Given the description of an element on the screen output the (x, y) to click on. 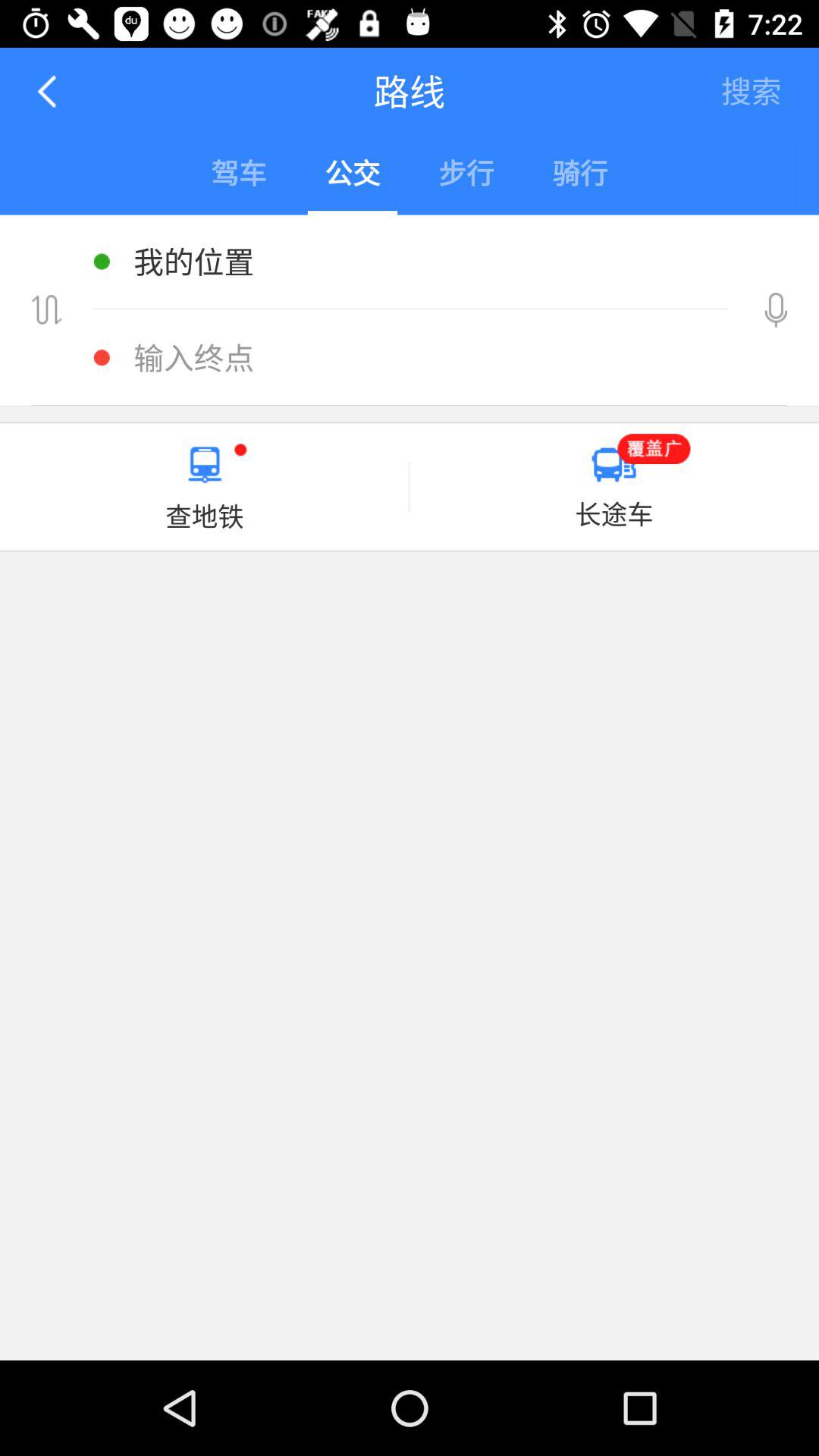
go to record button (776, 310)
second option in the menu bar (352, 175)
click on the blue colour bus symbol (613, 464)
